Given the description of an element on the screen output the (x, y) to click on. 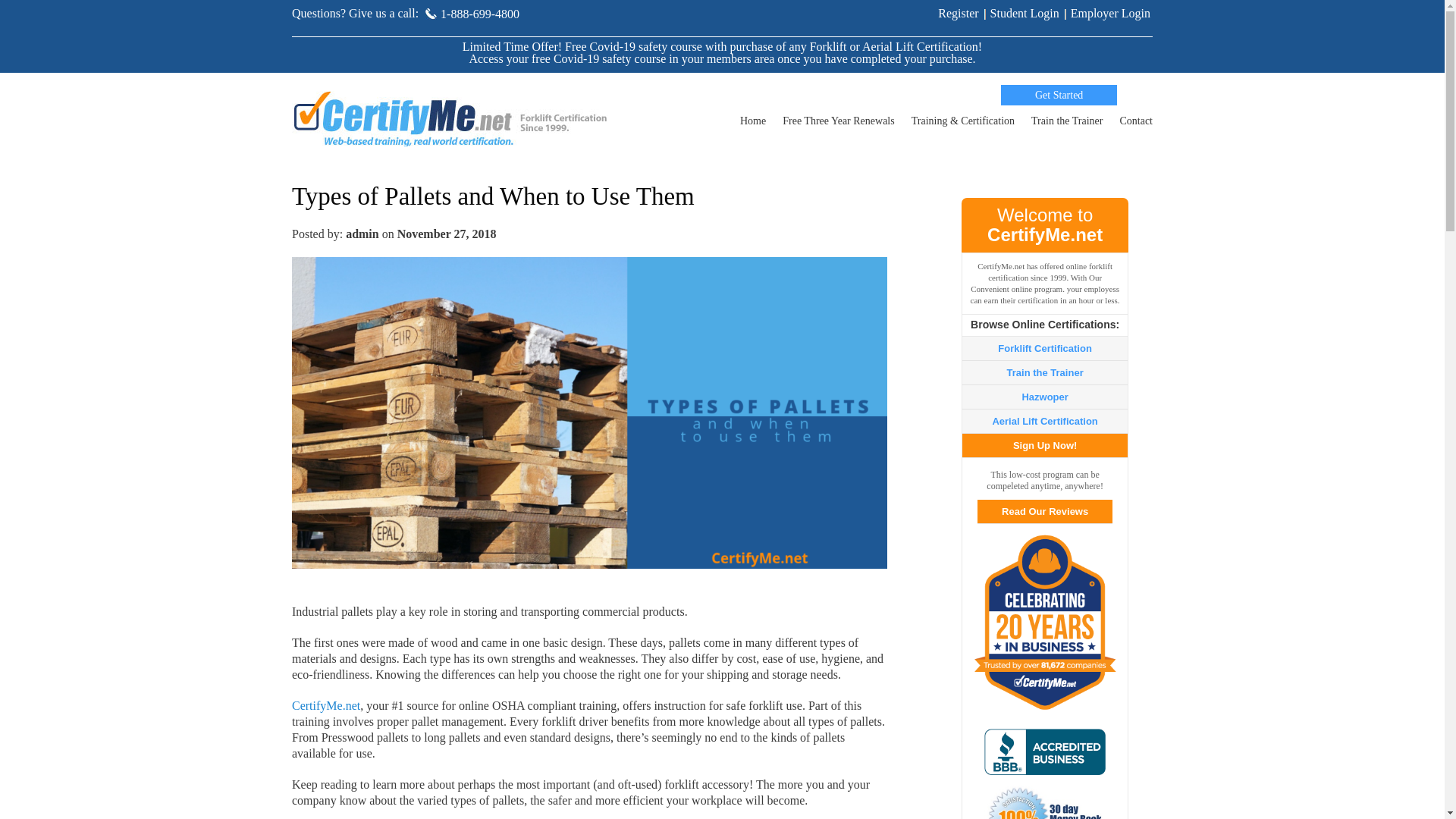
Free Three Year Renewals (838, 124)
Register (957, 12)
students (1024, 12)
Hazwoper (1044, 396)
Student Login (1024, 12)
Read Our Reviews (1044, 511)
Contact (1136, 124)
Employer Login (1110, 12)
Aerial Lift Certification (1044, 420)
employers (1110, 12)
Click to verify BBB accreditation and to see a BBB report. (1044, 751)
Home (752, 124)
Get Started (1058, 95)
Train the Trainer (1066, 124)
CertifyMe.net (325, 705)
